Given the description of an element on the screen output the (x, y) to click on. 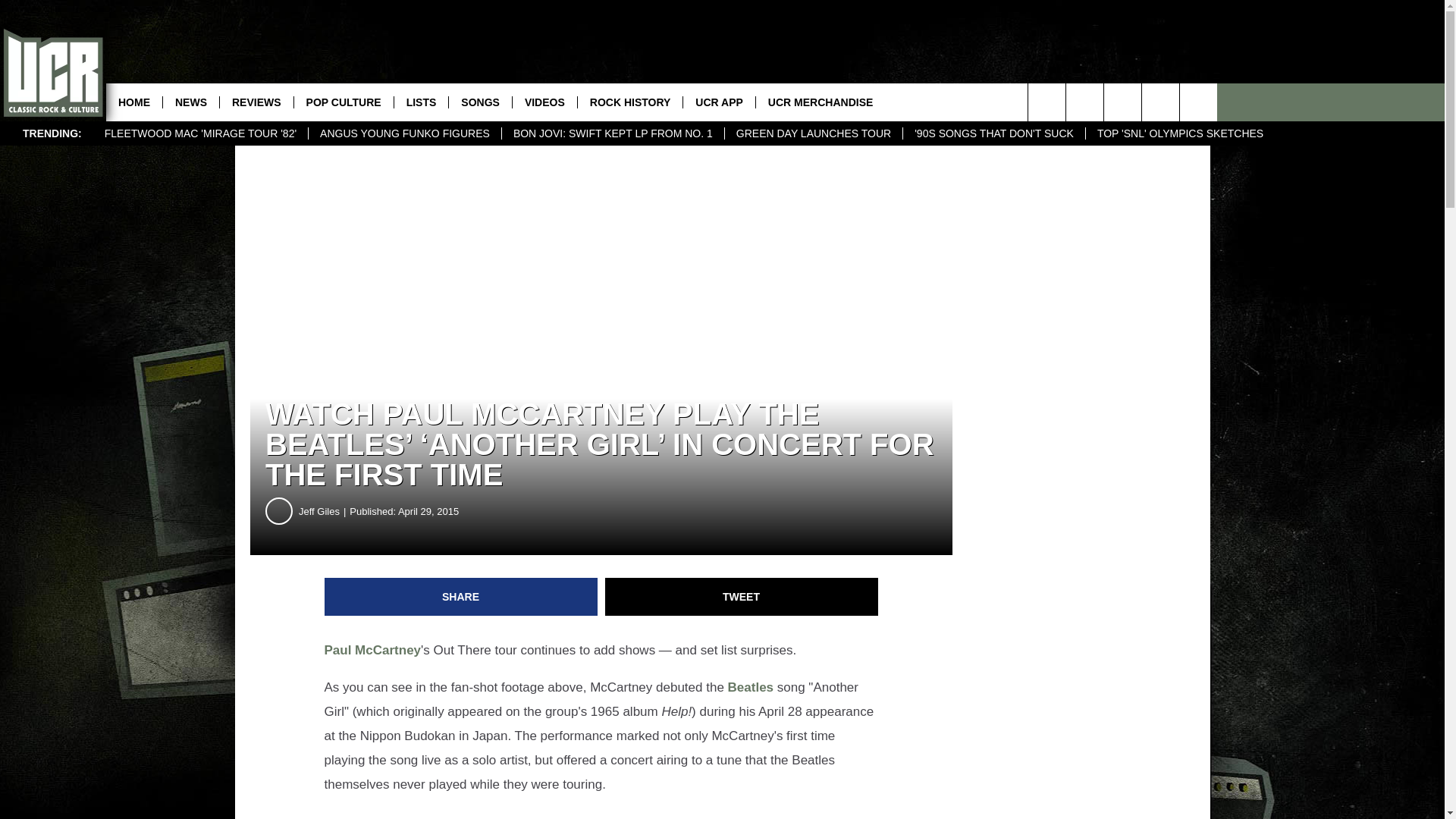
Visit us on Facebook (1160, 102)
Visit us on Twitter (1198, 102)
NEWS (190, 102)
POP CULTURE (343, 102)
LISTS (420, 102)
REVIEWS (256, 102)
UCR MERCHANDISE (820, 102)
Visit us on Youtube (1122, 102)
UCR APP (718, 102)
SONGS (480, 102)
GREEN DAY LAUNCHES TOUR (812, 133)
SHARE (460, 596)
'90S SONGS THAT DON'T SUCK (993, 133)
TWEET (741, 596)
TOP 'SNL' OLYMPICS SKETCHES (1179, 133)
